Given the description of an element on the screen output the (x, y) to click on. 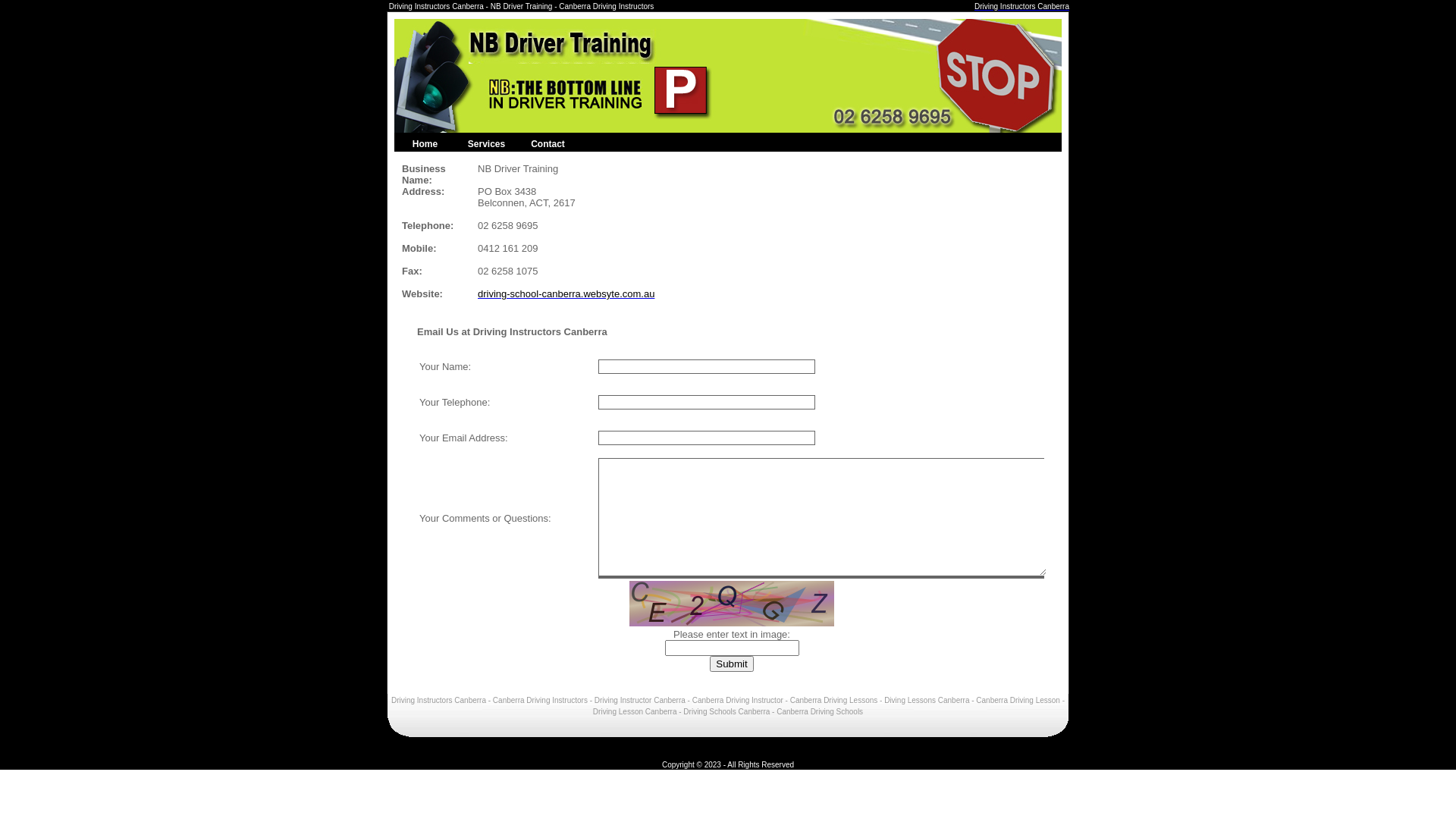
Contact Element type: text (547, 143)
Submit Element type: text (731, 663)
Home Element type: text (424, 143)
Driving Instructors Canberra Element type: text (1021, 5)
Services Element type: text (486, 143)
driving-school-canberra.websyte.com.au Element type: text (565, 293)
